Given the description of an element on the screen output the (x, y) to click on. 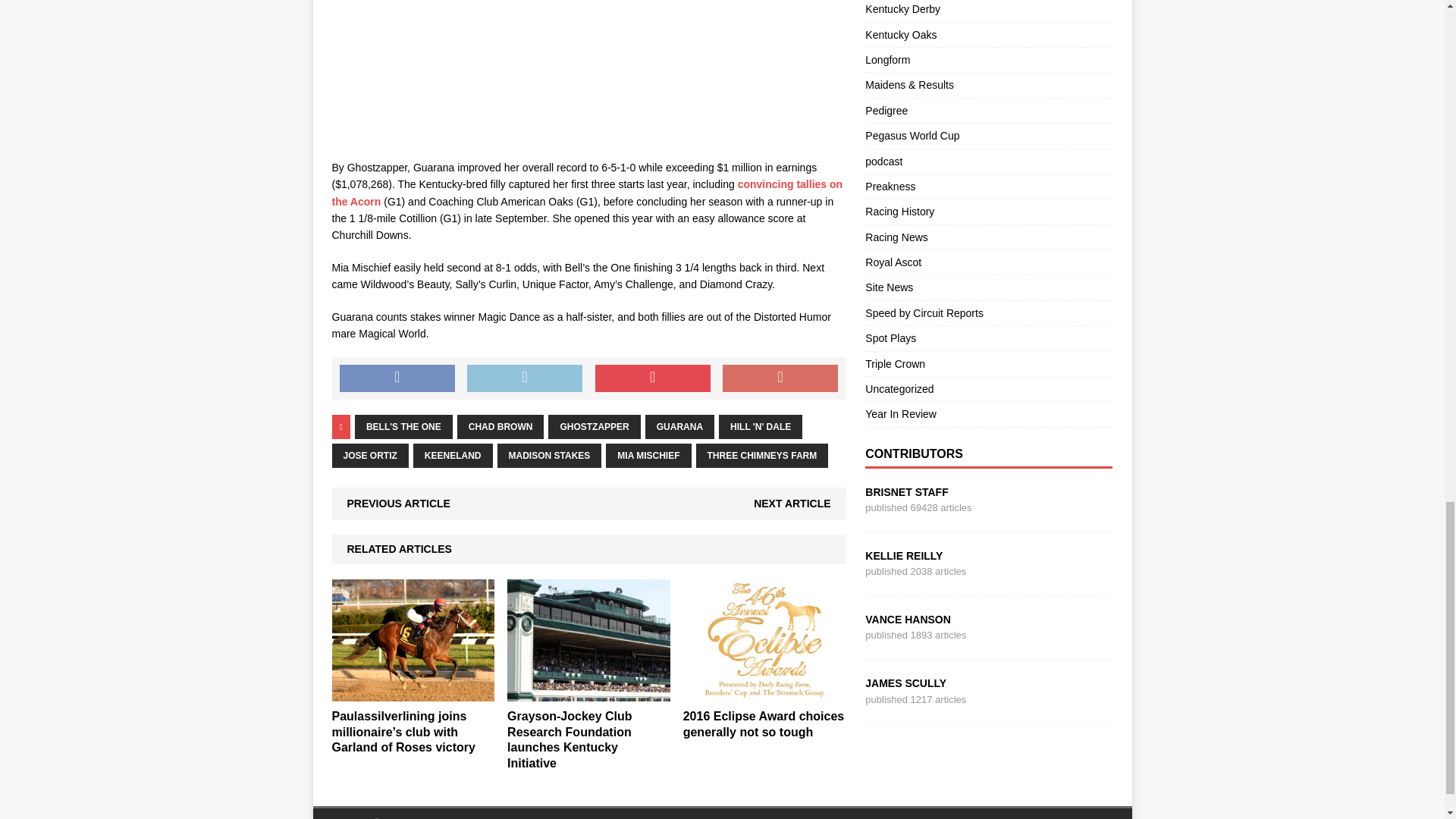
Tweet This Post (524, 378)
Share on Facebook (396, 378)
2016 Eclipse Award choices generally not so tough (763, 724)
Pin This Post (652, 378)
2016 Eclipse Award choices generally not so tough (763, 692)
